Given the description of an element on the screen output the (x, y) to click on. 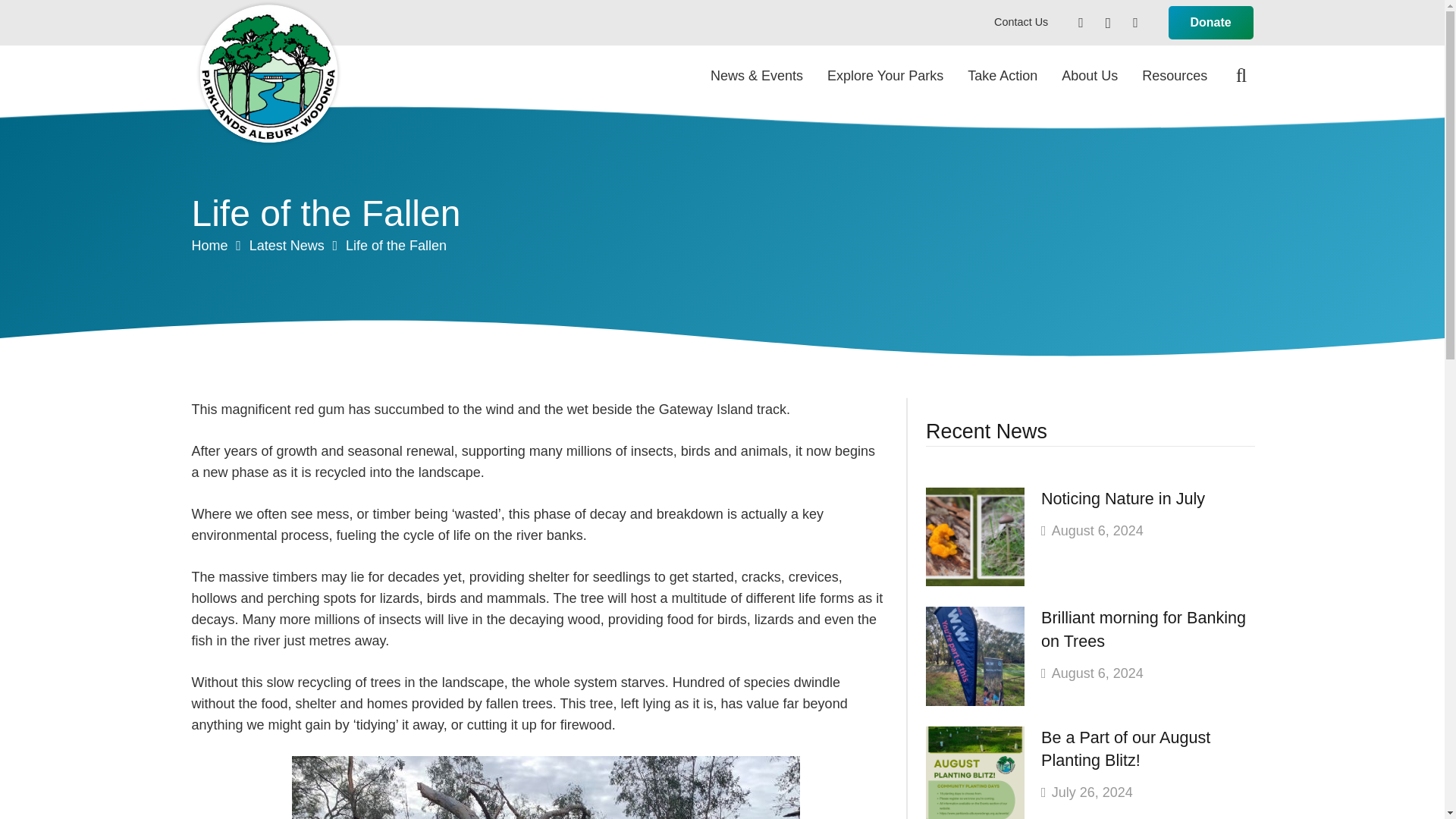
About Us (1089, 75)
YouTube (1134, 22)
Facebook (1080, 22)
Explore Your Parks (885, 75)
Donate (1211, 22)
Contact Us (1021, 21)
Take Action (1002, 75)
Instagram (1107, 22)
Resources (1174, 75)
